Given the description of an element on the screen output the (x, y) to click on. 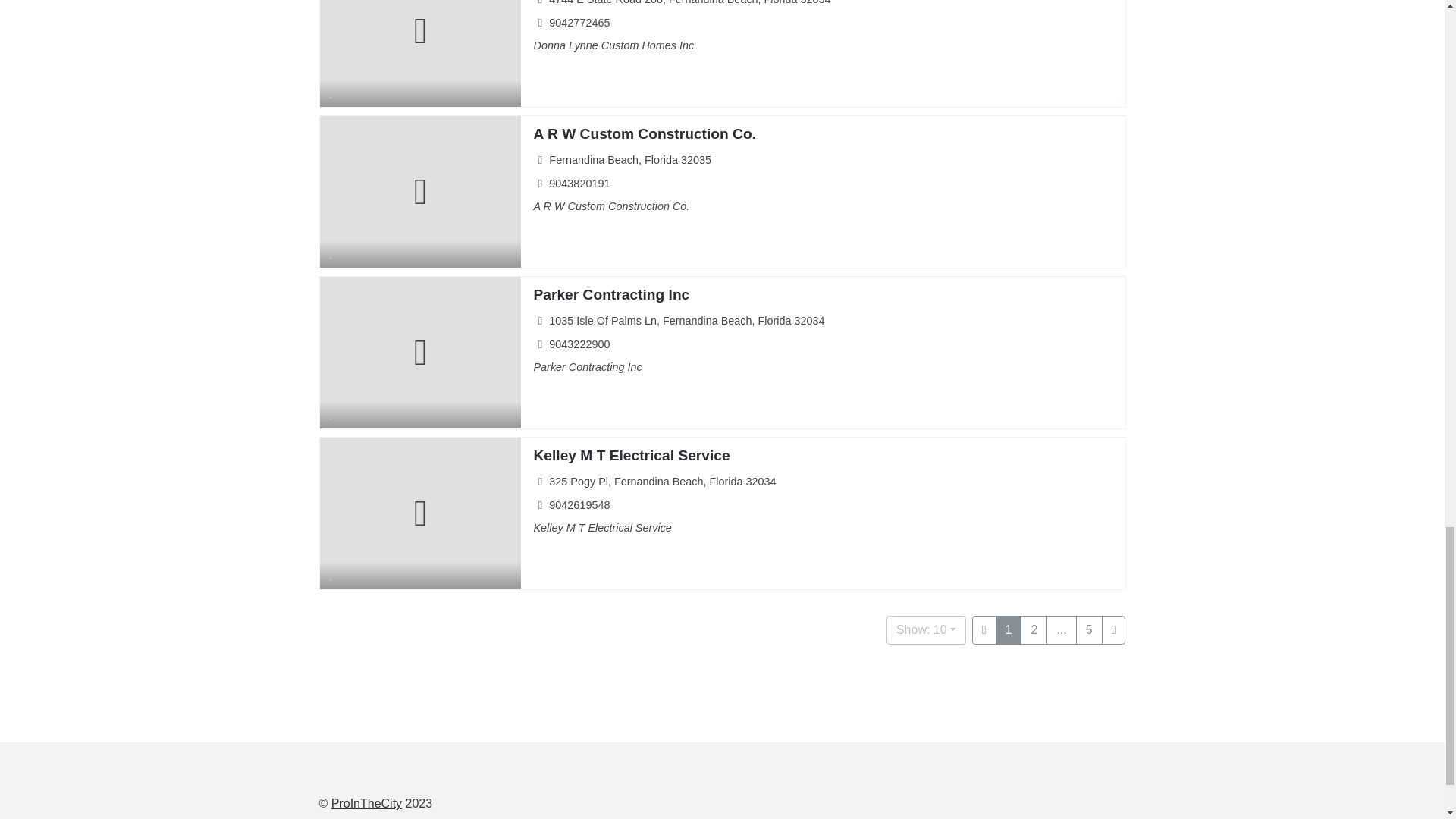
A R W Custom Construction Co. (643, 133)
